Given the description of an element on the screen output the (x, y) to click on. 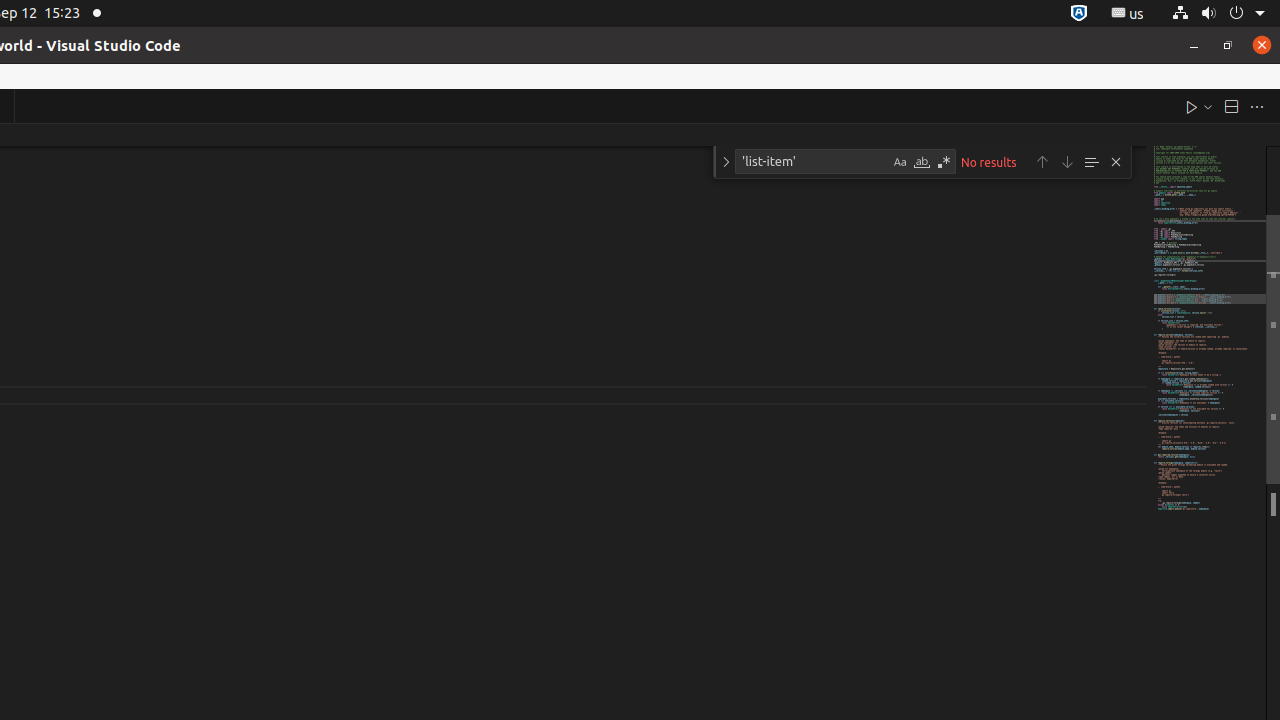
Match Whole Word (Alt+W) Element type: check-box (922, 162)
Split Editor Right (Ctrl+\) [Alt] Split Editor Down Element type: push-button (1231, 106)
Close (Escape) Element type: push-button (1116, 162)
Previous Match (Shift+Enter) Element type: push-button (1042, 161)
